Given the description of an element on the screen output the (x, y) to click on. 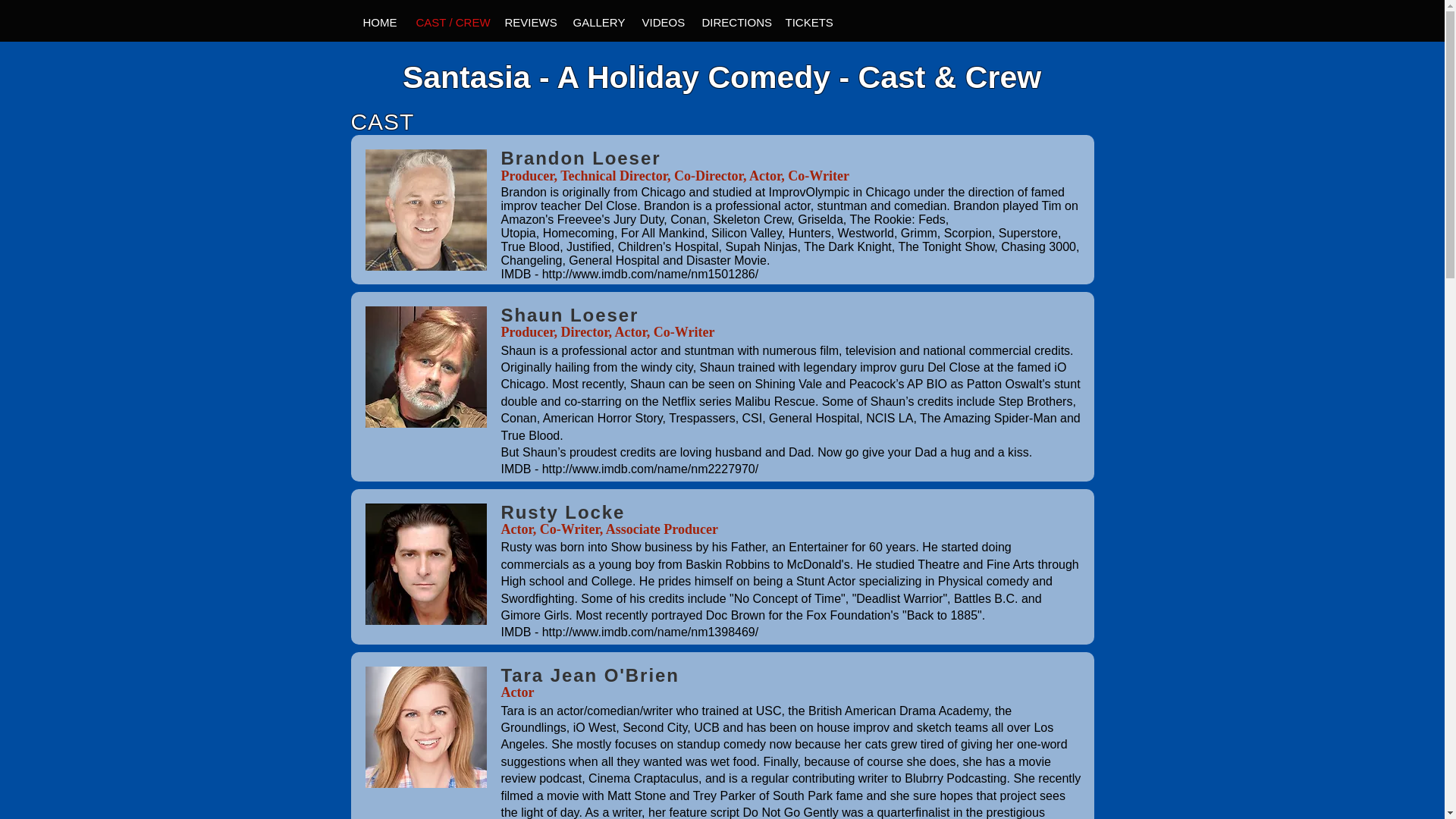
writer (627, 812)
TICKETS (805, 22)
REVIEWS (526, 22)
DIRECTIONS (731, 22)
Cinema Craptaculus (643, 778)
GALLERY (595, 22)
HOME (376, 22)
VIDEOS (658, 22)
Blubrry Podcasting (955, 778)
